Given the description of an element on the screen output the (x, y) to click on. 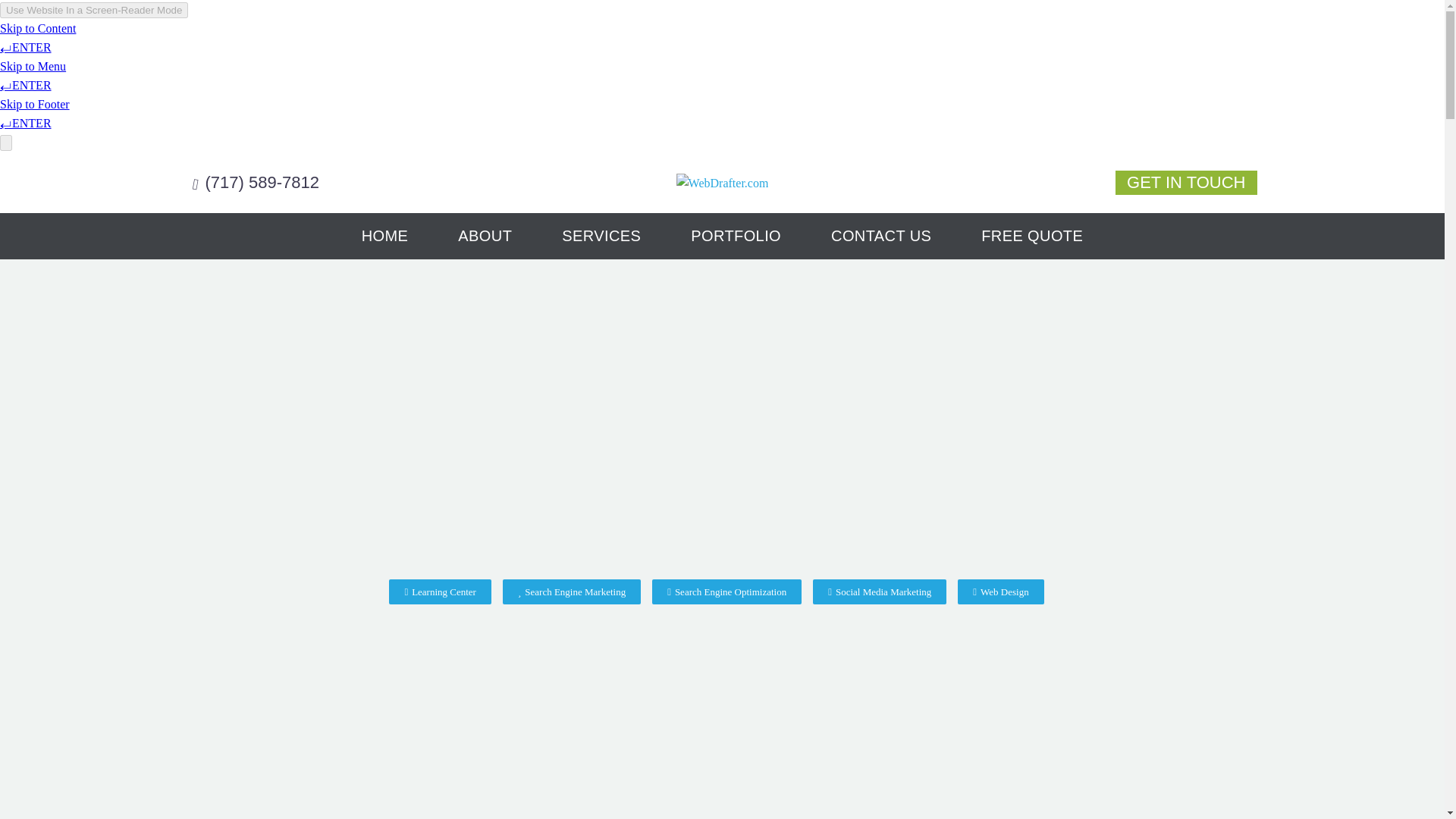
HOME (384, 236)
ABOUT (484, 236)
SERVICES (601, 236)
GET IN TOUCH (1185, 182)
